Given the description of an element on the screen output the (x, y) to click on. 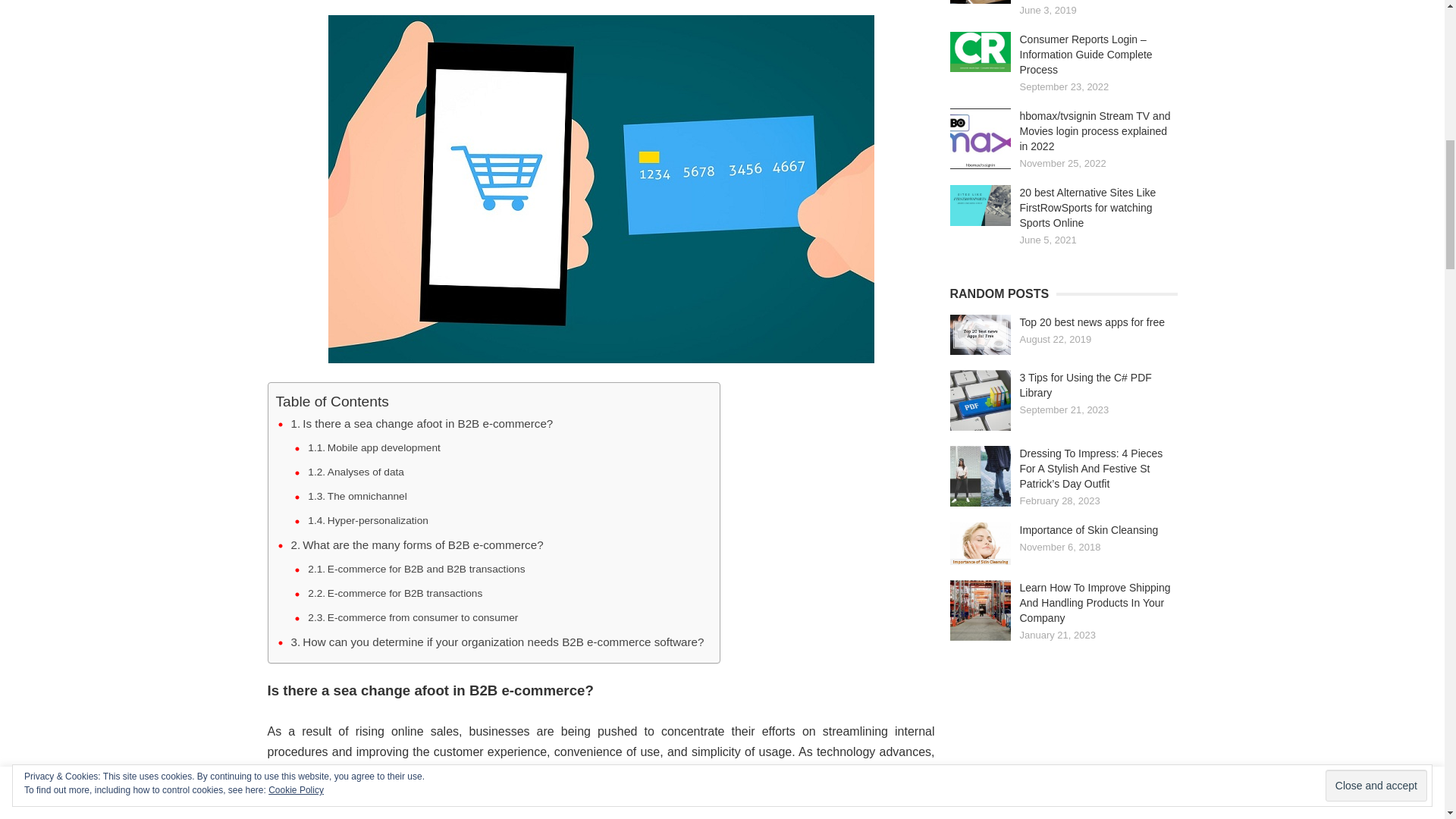
Is there a sea change afoot in B2B e-commerce? (422, 423)
Analyses of data (355, 472)
Hyper-personalization (367, 520)
The omnichannel (356, 496)
What are the many forms of B2B e-commerce? (417, 545)
E-commerce from consumer to consumer (412, 617)
E-commerce for B2B and B2B transactions (415, 569)
E-commerce for B2B transactions (394, 593)
Mobile app development (374, 447)
